Given the description of an element on the screen output the (x, y) to click on. 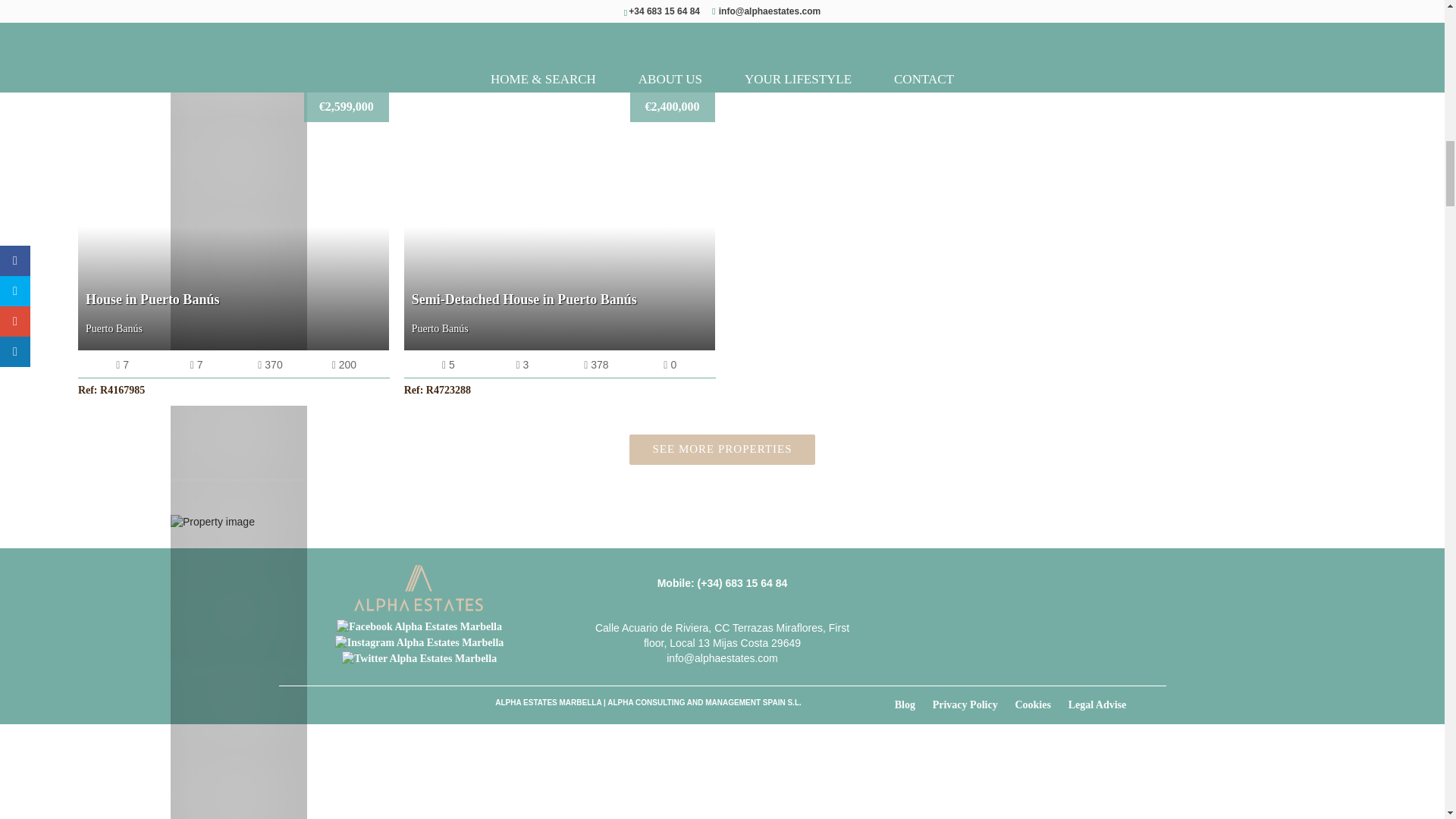
Built (269, 365)
SEE MORE PROPERTIES (721, 449)
Built (343, 365)
Price (346, 107)
Built (596, 365)
Price (671, 107)
Beds (121, 365)
Beds (448, 365)
Privacy Policy (973, 704)
Cookies (1039, 704)
Baths (195, 365)
Baths (521, 365)
Built (669, 365)
Legal Advise (1104, 704)
Blog (912, 704)
